Given the description of an element on the screen output the (x, y) to click on. 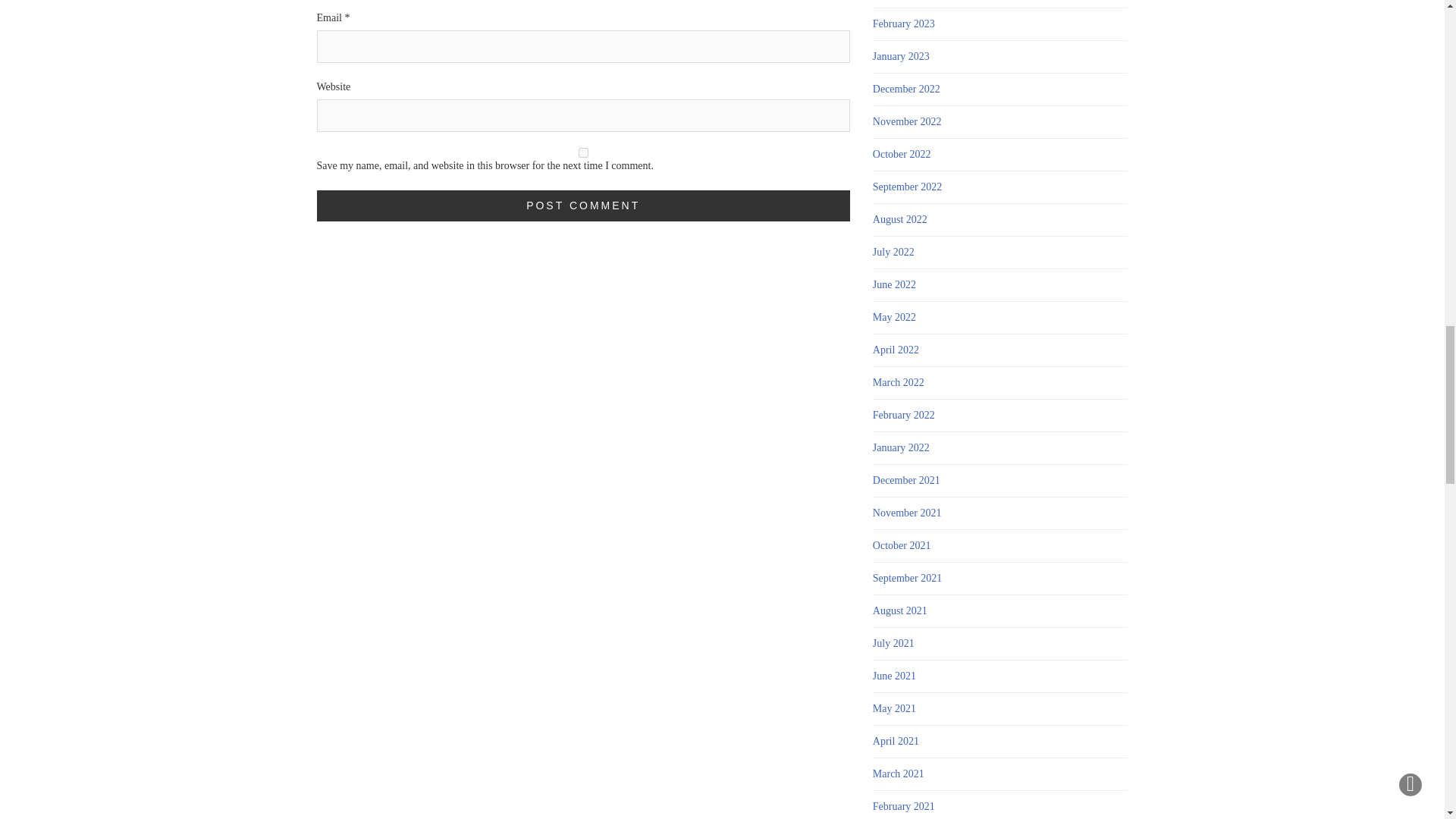
Post Comment (583, 205)
Post Comment (583, 205)
yes (583, 153)
